Given the description of an element on the screen output the (x, y) to click on. 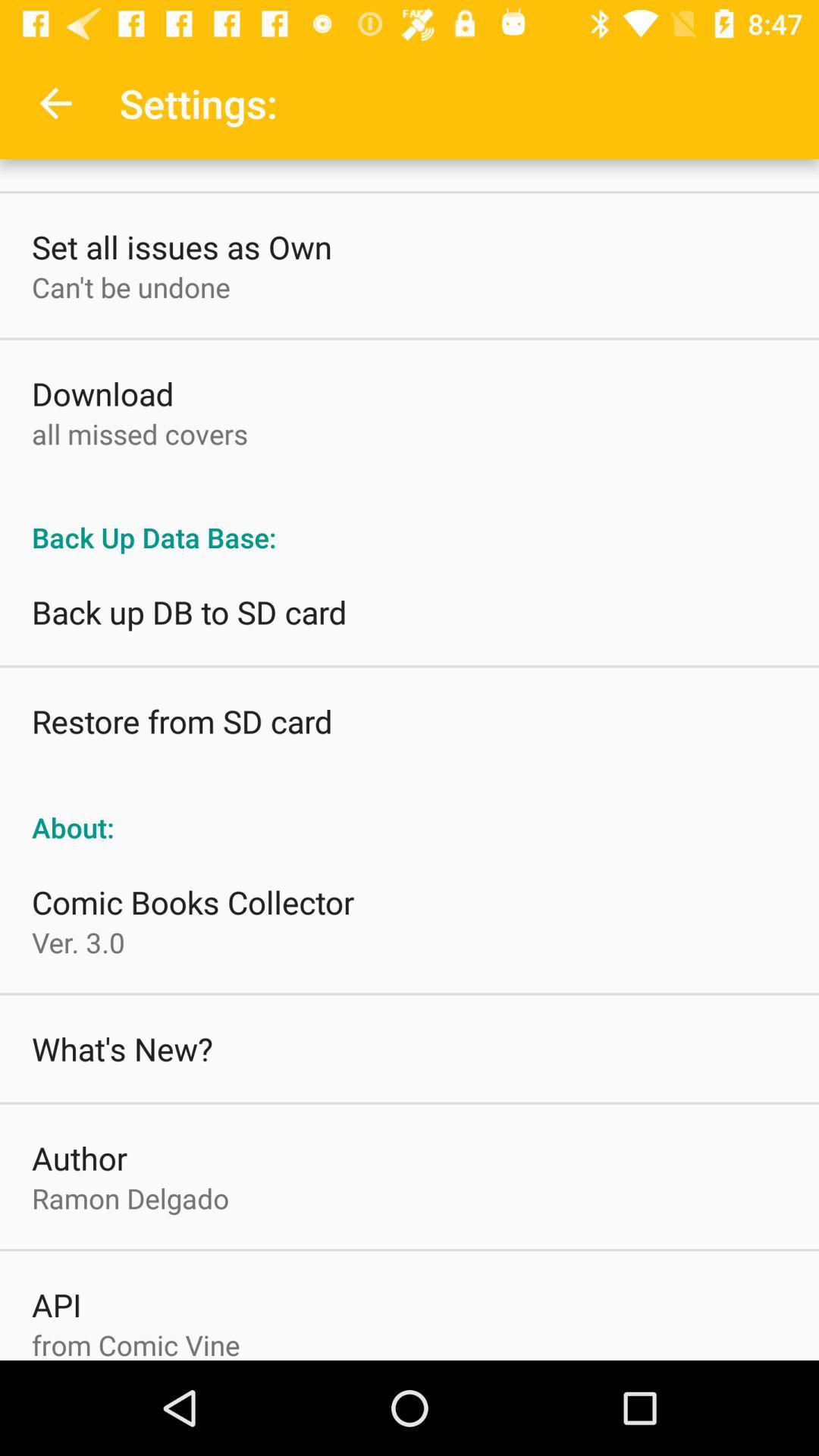
jump until the from comic vine (135, 1343)
